Given the description of an element on the screen output the (x, y) to click on. 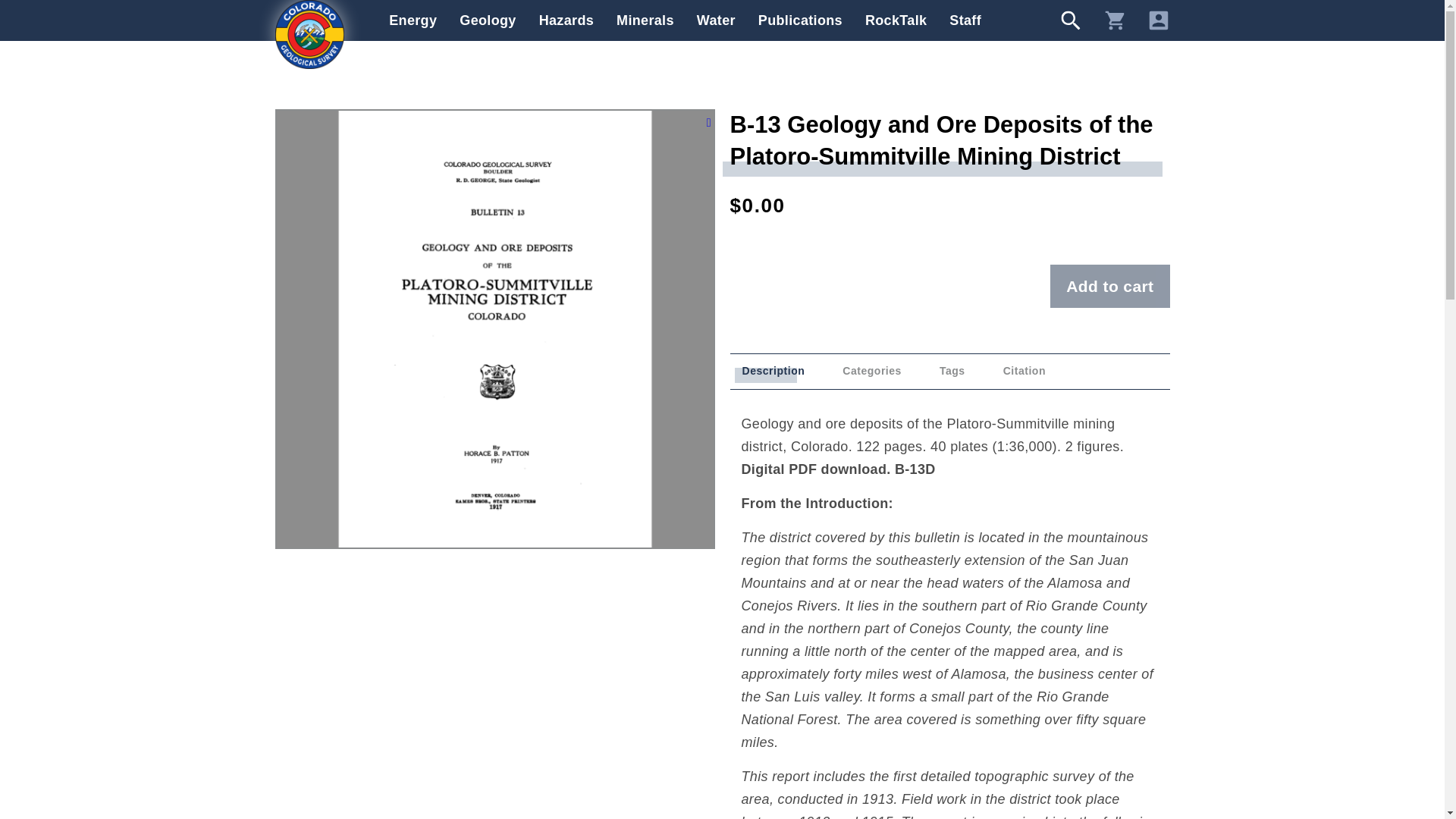
Geology (487, 20)
Energy (412, 20)
Hazards (566, 20)
